Given the description of an element on the screen output the (x, y) to click on. 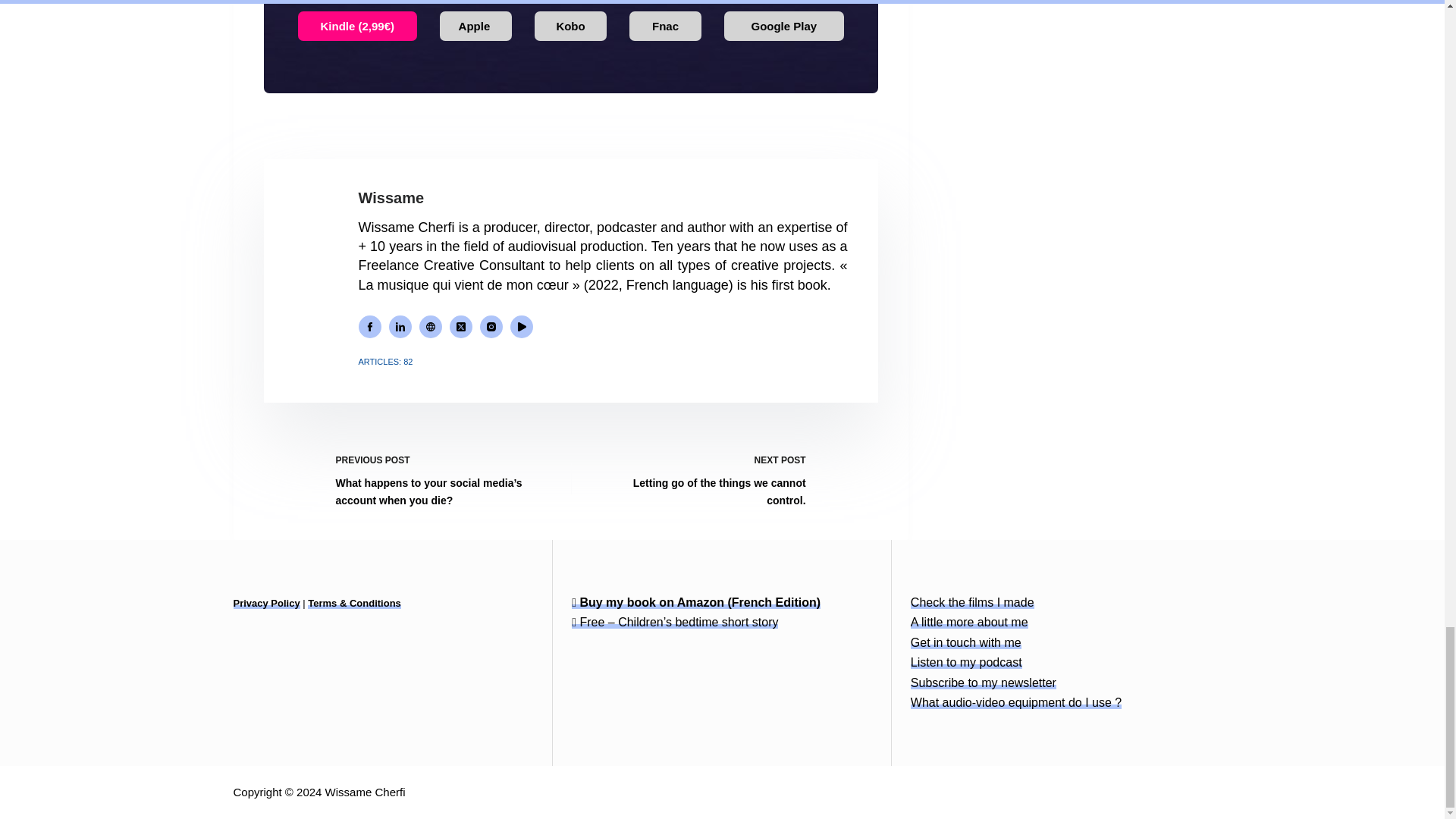
Kobo (570, 25)
Apple  (475, 25)
Fnac (664, 25)
Google Play (783, 25)
